Given the description of an element on the screen output the (x, y) to click on. 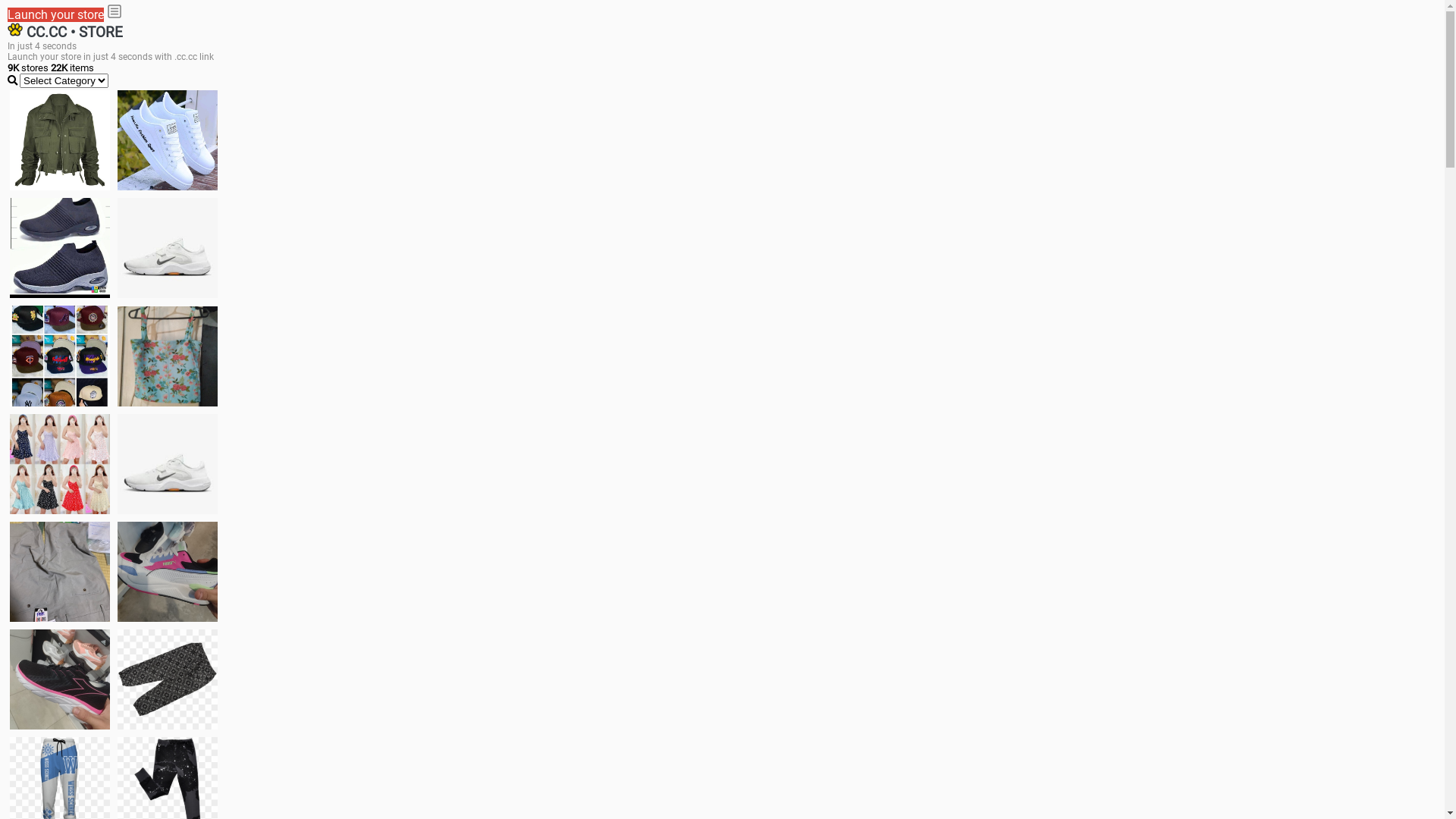
jacket Element type: hover (59, 140)
Dress/square nect top Element type: hover (59, 464)
Things we need Element type: hover (59, 355)
Zapatillas Element type: hover (59, 679)
Short pant Element type: hover (167, 679)
Shoes for boys Element type: hover (167, 247)
Ukay cloth Element type: hover (167, 356)
white shoes Element type: hover (167, 140)
Shoes Element type: hover (167, 464)
shoes for boys Element type: hover (59, 247)
Zapatillas pumas Element type: hover (167, 571)
Launch your store Element type: text (55, 14)
